Given the description of an element on the screen output the (x, y) to click on. 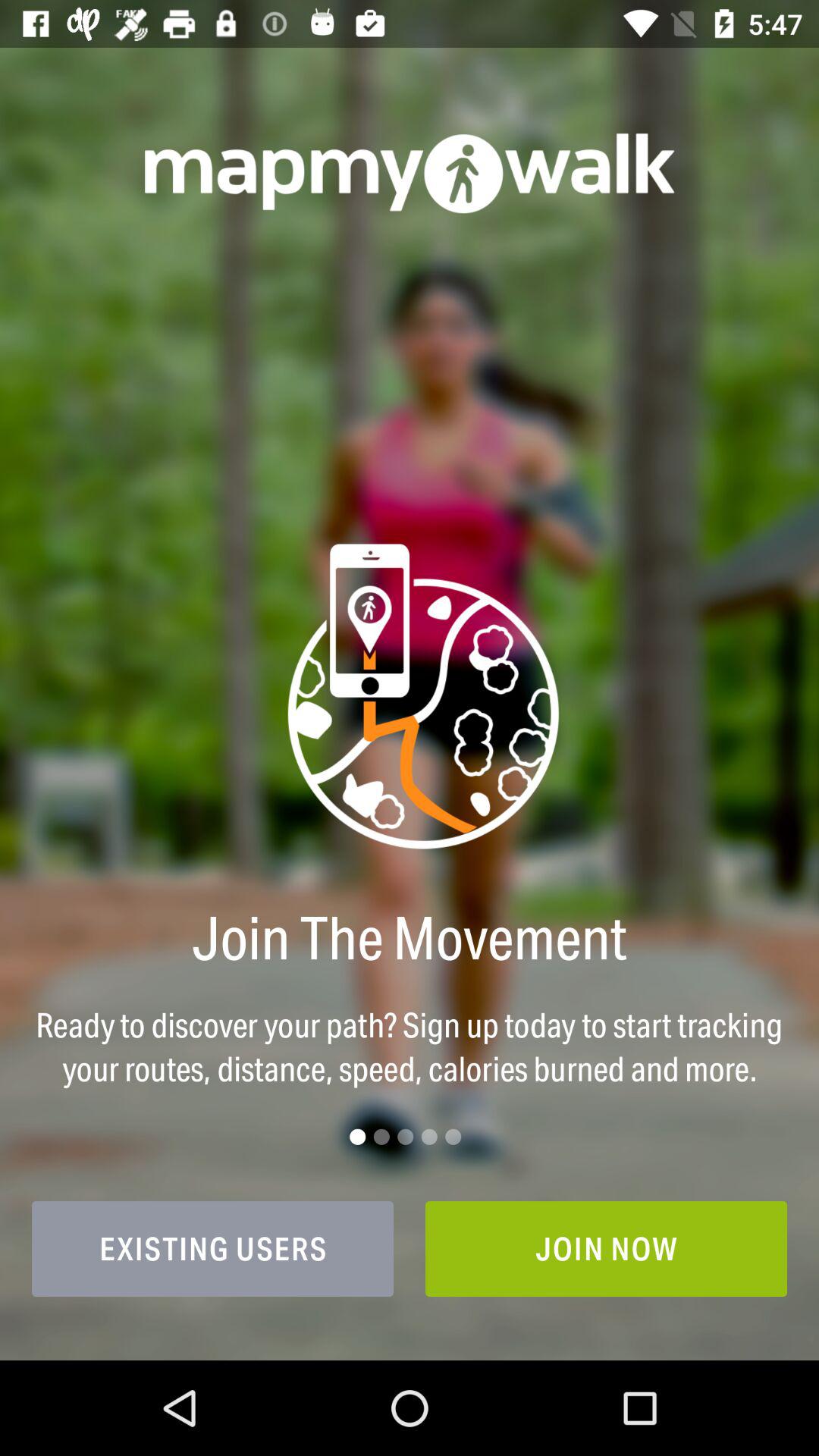
launch the icon next to existing users (606, 1248)
